Given the description of an element on the screen output the (x, y) to click on. 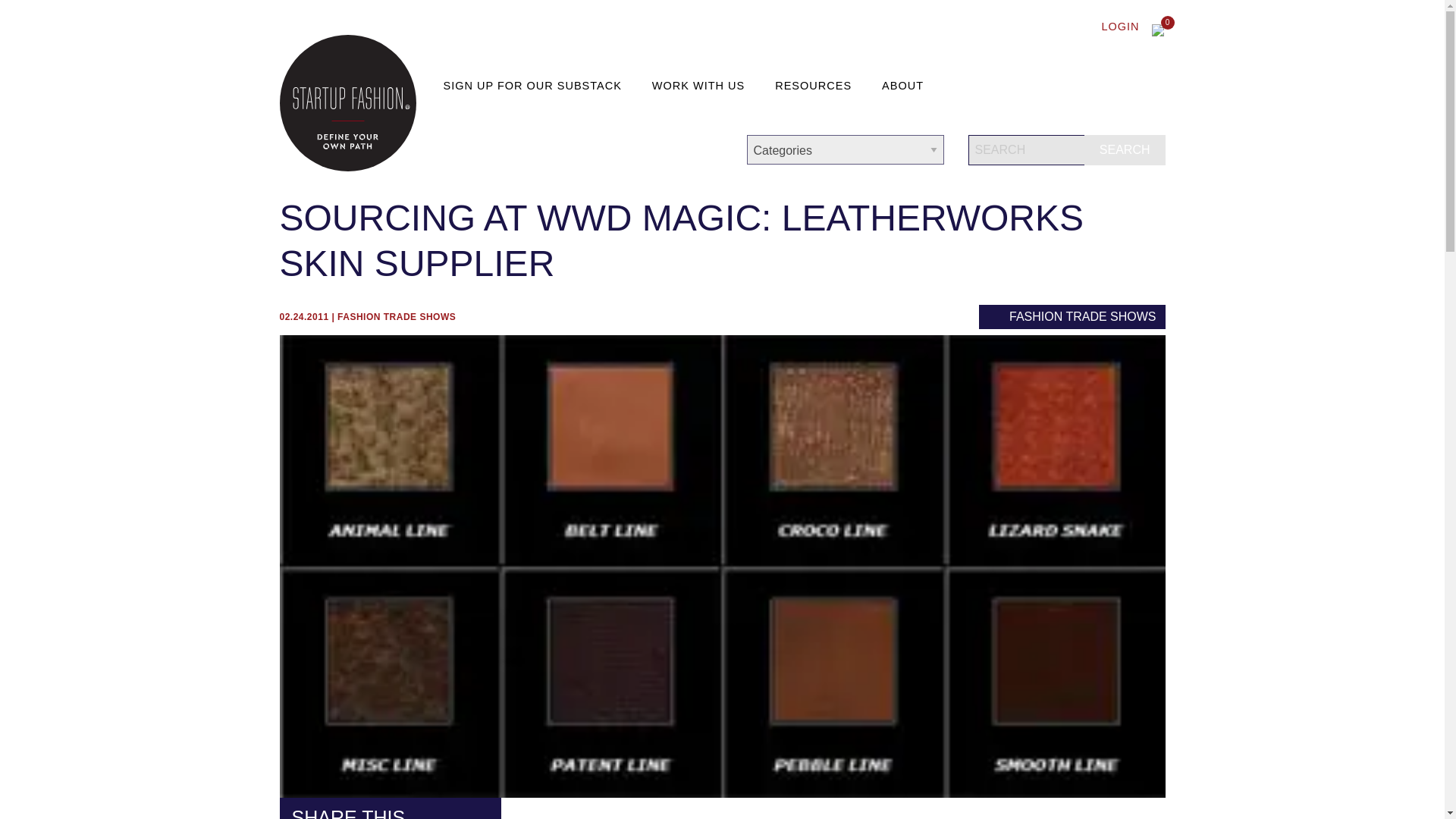
WORK WITH US (701, 85)
Search (1125, 150)
Search (1125, 150)
SIGN UP FOR OUR SUBSTACK (534, 85)
0 (1157, 29)
Search for: (1066, 150)
FASHION TRADE SHOWS (396, 317)
Search (1125, 150)
RESOURCES (815, 85)
